Given the description of an element on the screen output the (x, y) to click on. 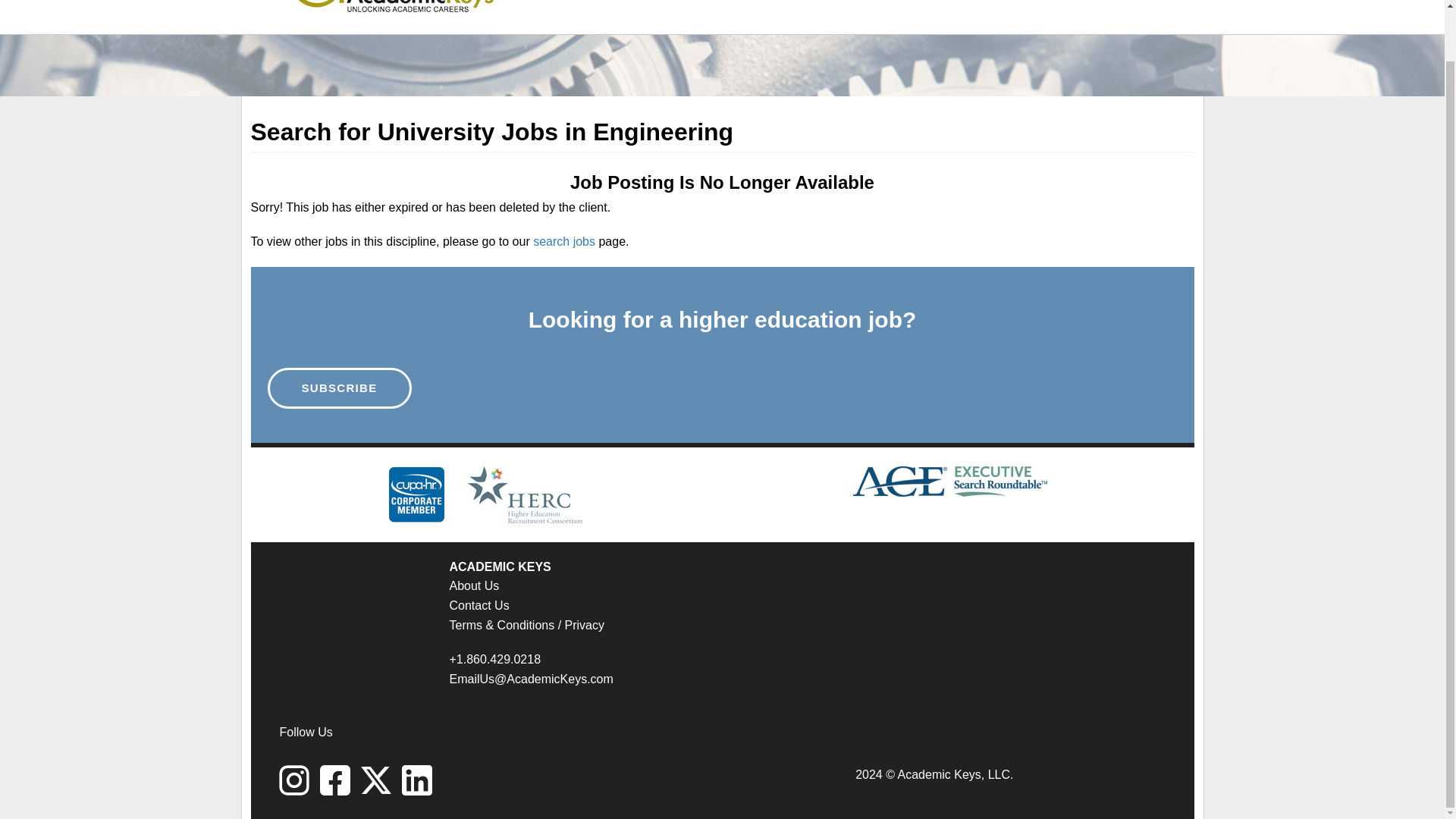
search jobs (563, 241)
SUBSCRIBE (338, 387)
About Us (473, 585)
About Us (473, 585)
Contact Us (478, 604)
Contact Us (478, 604)
